Given the description of an element on the screen output the (x, y) to click on. 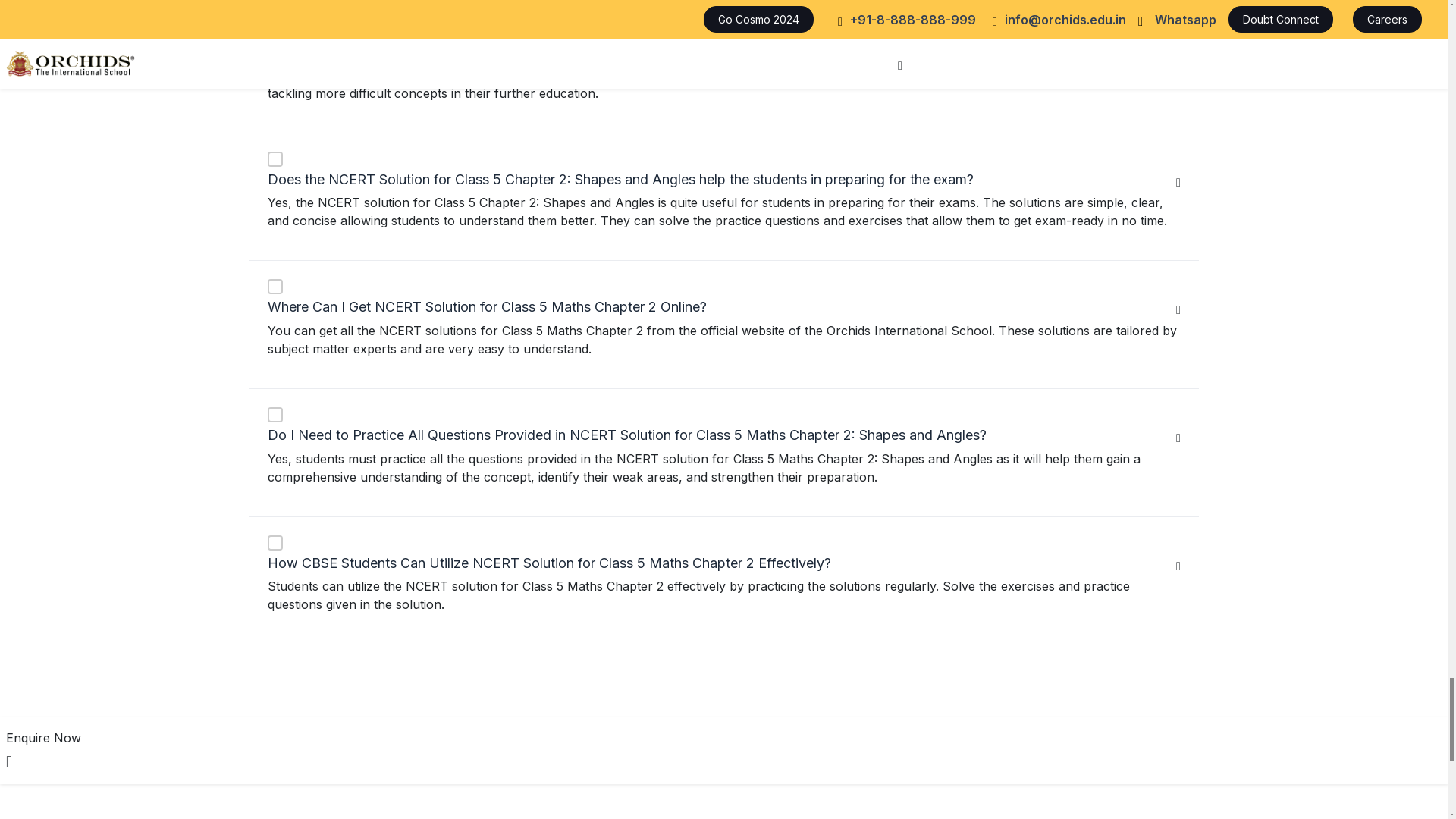
on (274, 12)
NCERT solution (339, 56)
on (274, 159)
on (274, 286)
on (274, 542)
on (274, 414)
